Given the description of an element on the screen output the (x, y) to click on. 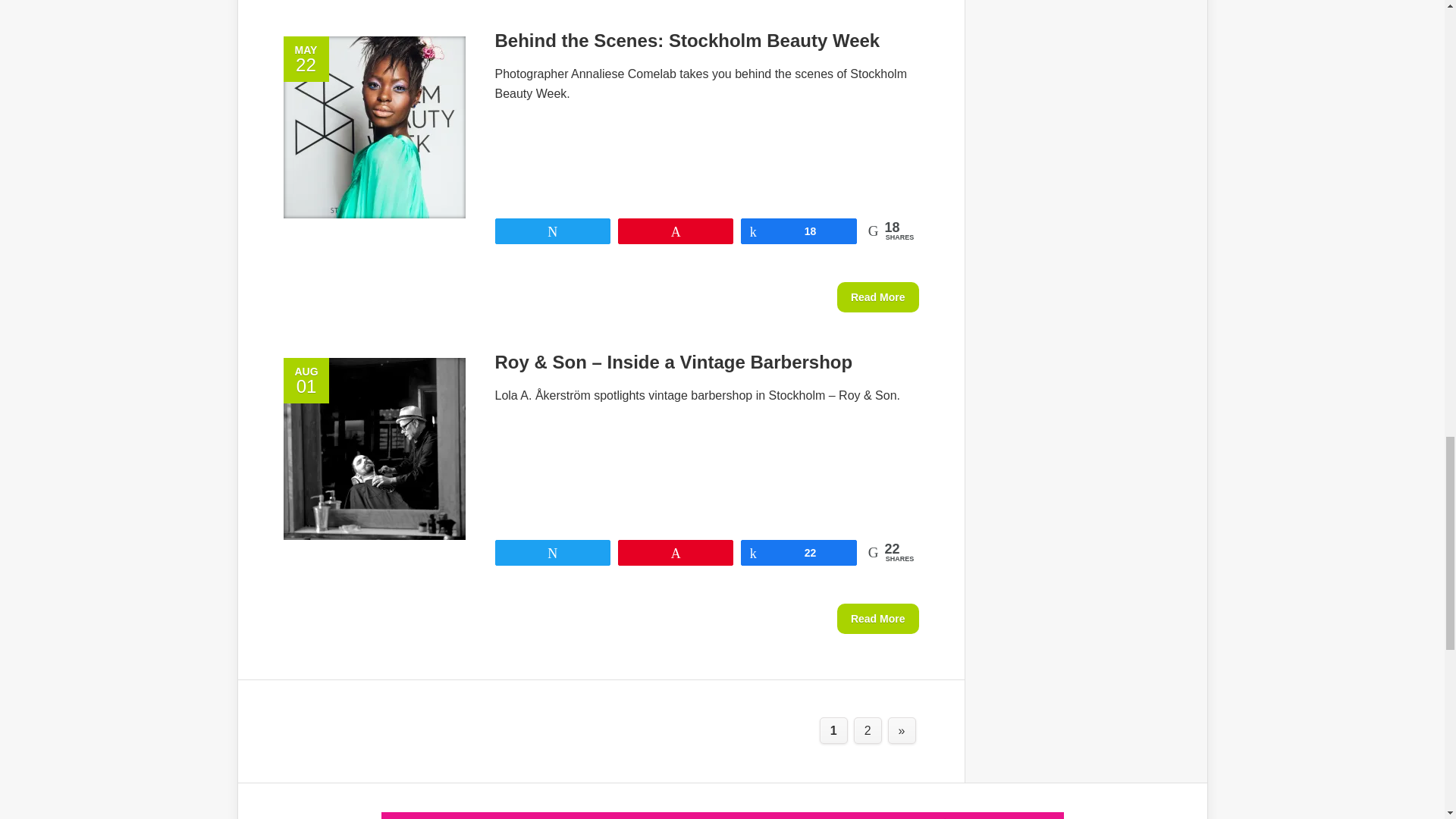
Page 2 (867, 730)
